Given the description of an element on the screen output the (x, y) to click on. 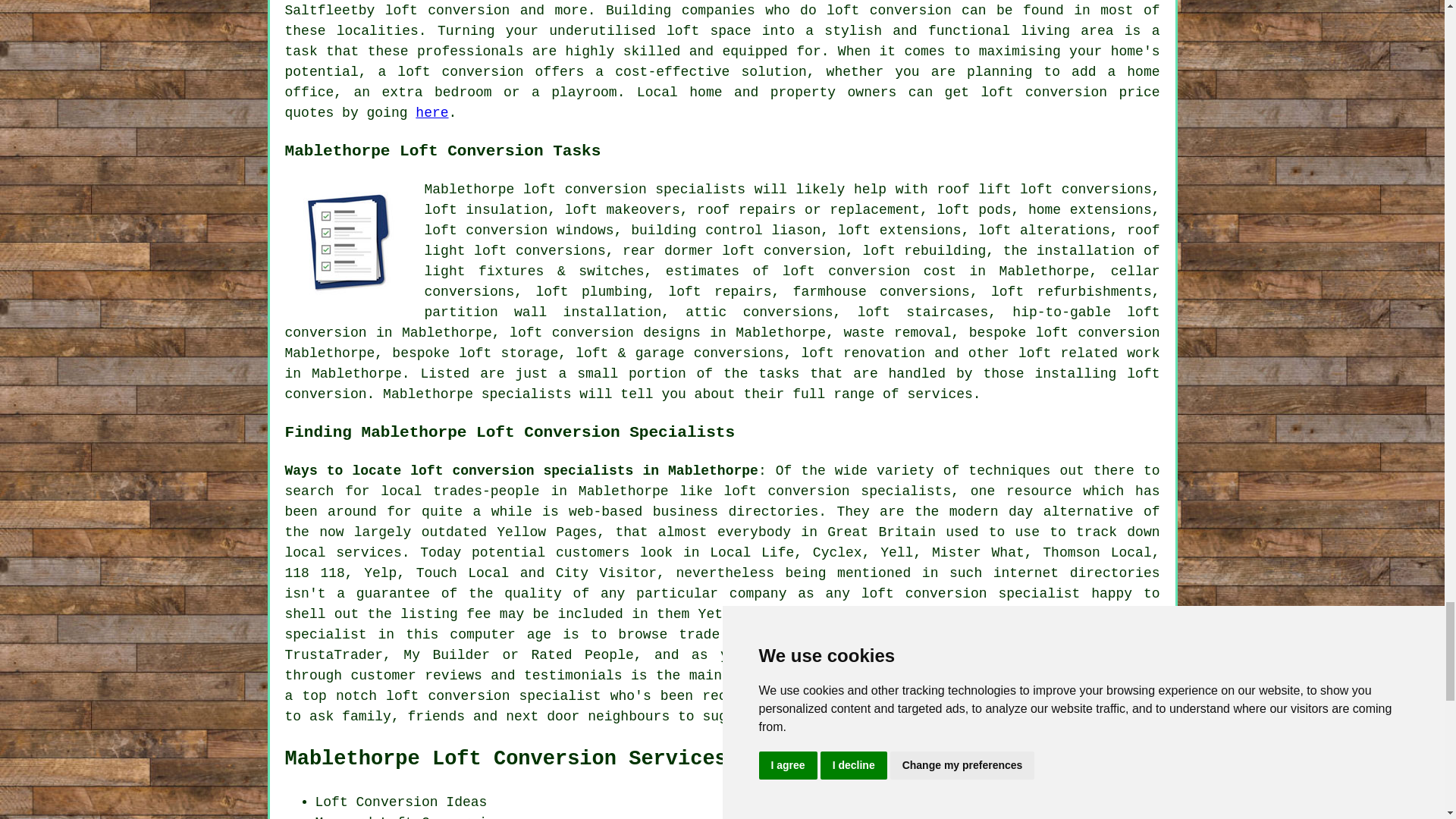
loft conversion (889, 10)
loft conversion (1042, 92)
Mablethorpe Loft Conversion Tasks (349, 243)
